Given the description of an element on the screen output the (x, y) to click on. 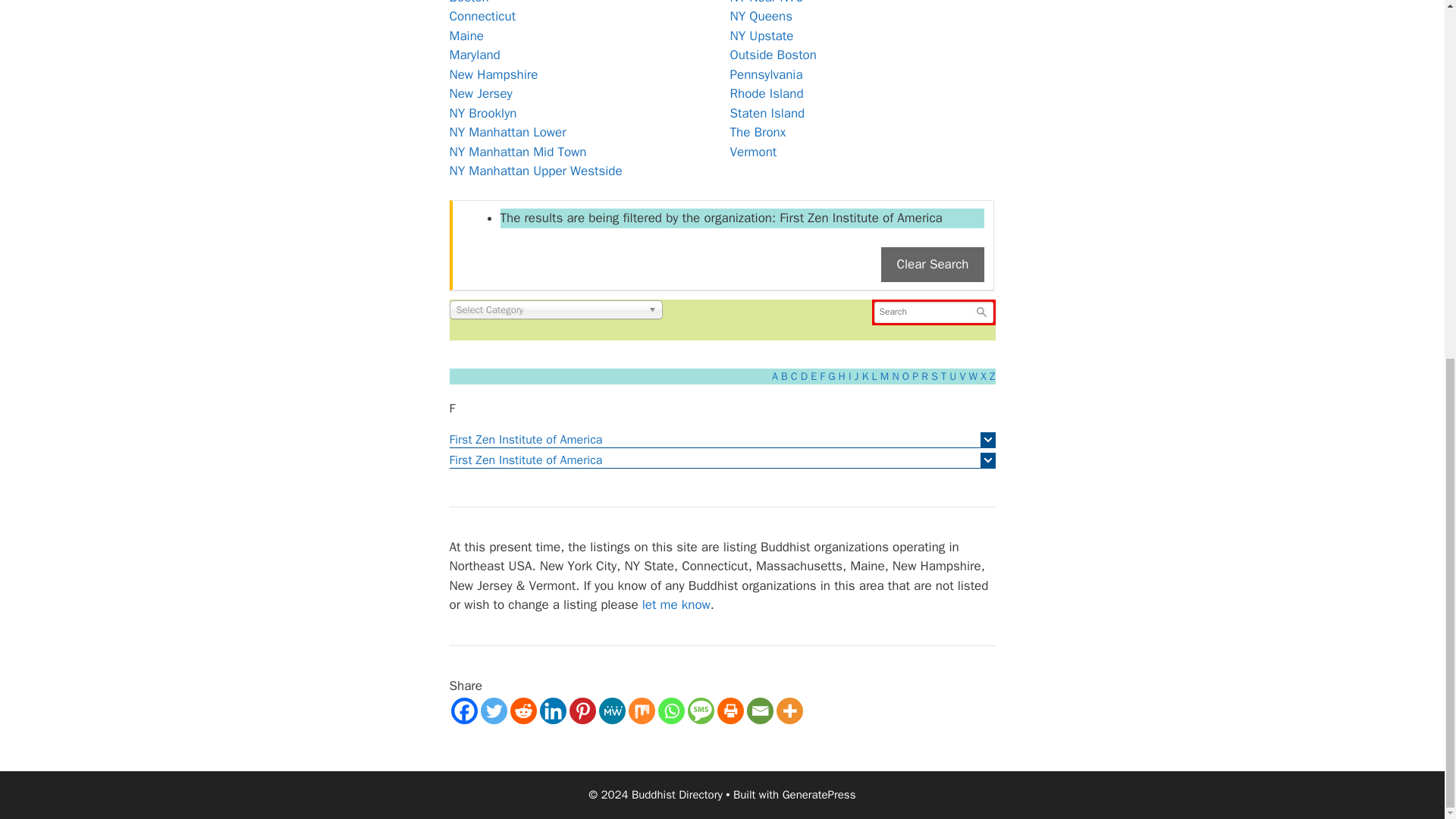
Connecticut (481, 16)
Vermont (752, 151)
Select Category (555, 309)
A (774, 376)
G (831, 376)
H (841, 376)
NY Queens (760, 16)
Pennsylvania (765, 74)
NY Manhattan Upper Westside (534, 170)
E (813, 376)
The Bronx (757, 132)
F (822, 376)
NY Upstate (761, 35)
Boston (467, 2)
NY Brooklyn (482, 113)
